Given the description of an element on the screen output the (x, y) to click on. 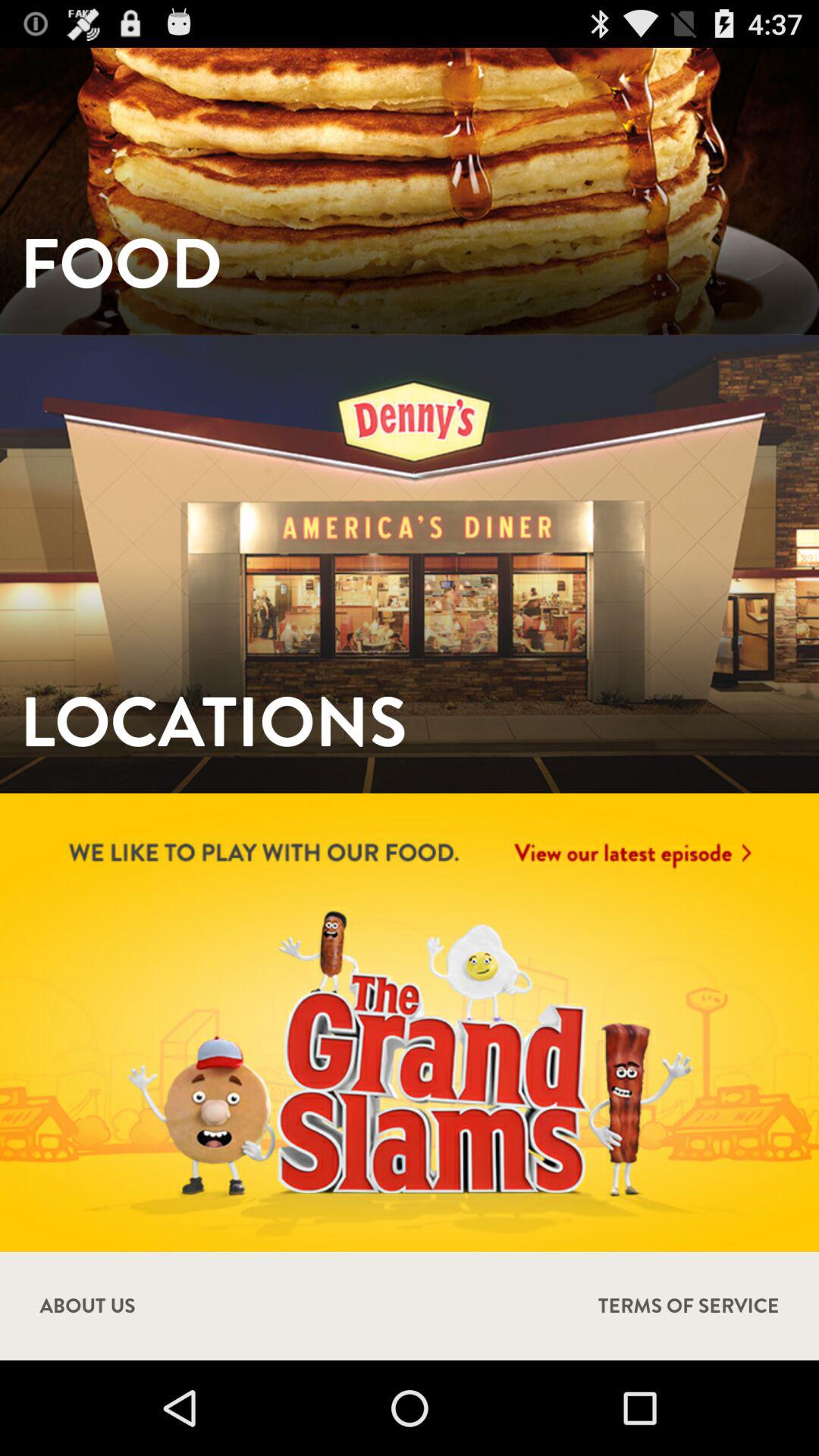
select item to the left of the terms of service item (87, 1305)
